Given the description of an element on the screen output the (x, y) to click on. 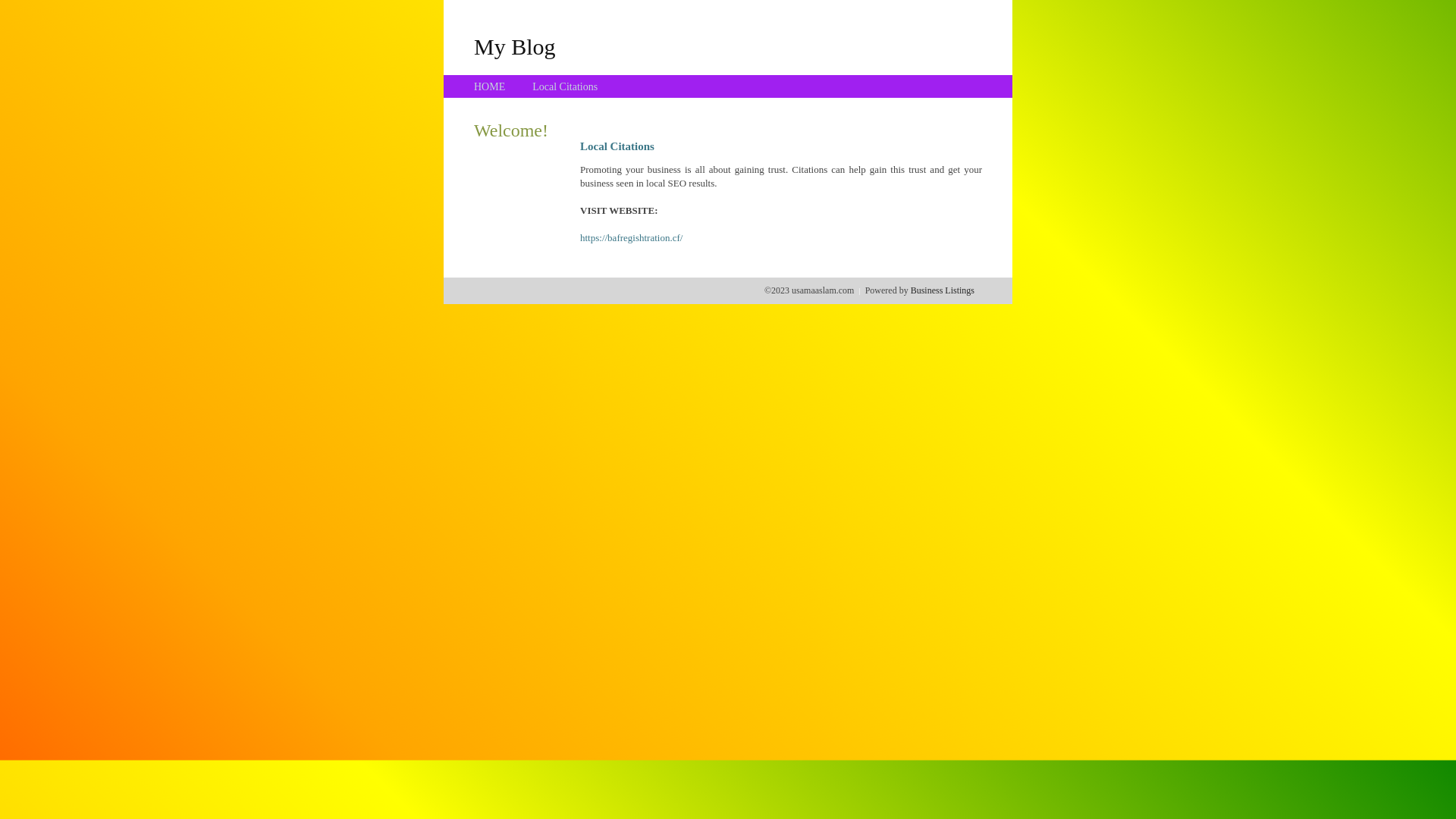
HOME Element type: text (489, 86)
Business Listings Element type: text (942, 290)
Local Citations Element type: text (564, 86)
https://bafregishtration.cf/ Element type: text (631, 237)
My Blog Element type: text (514, 46)
